Given the description of an element on the screen output the (x, y) to click on. 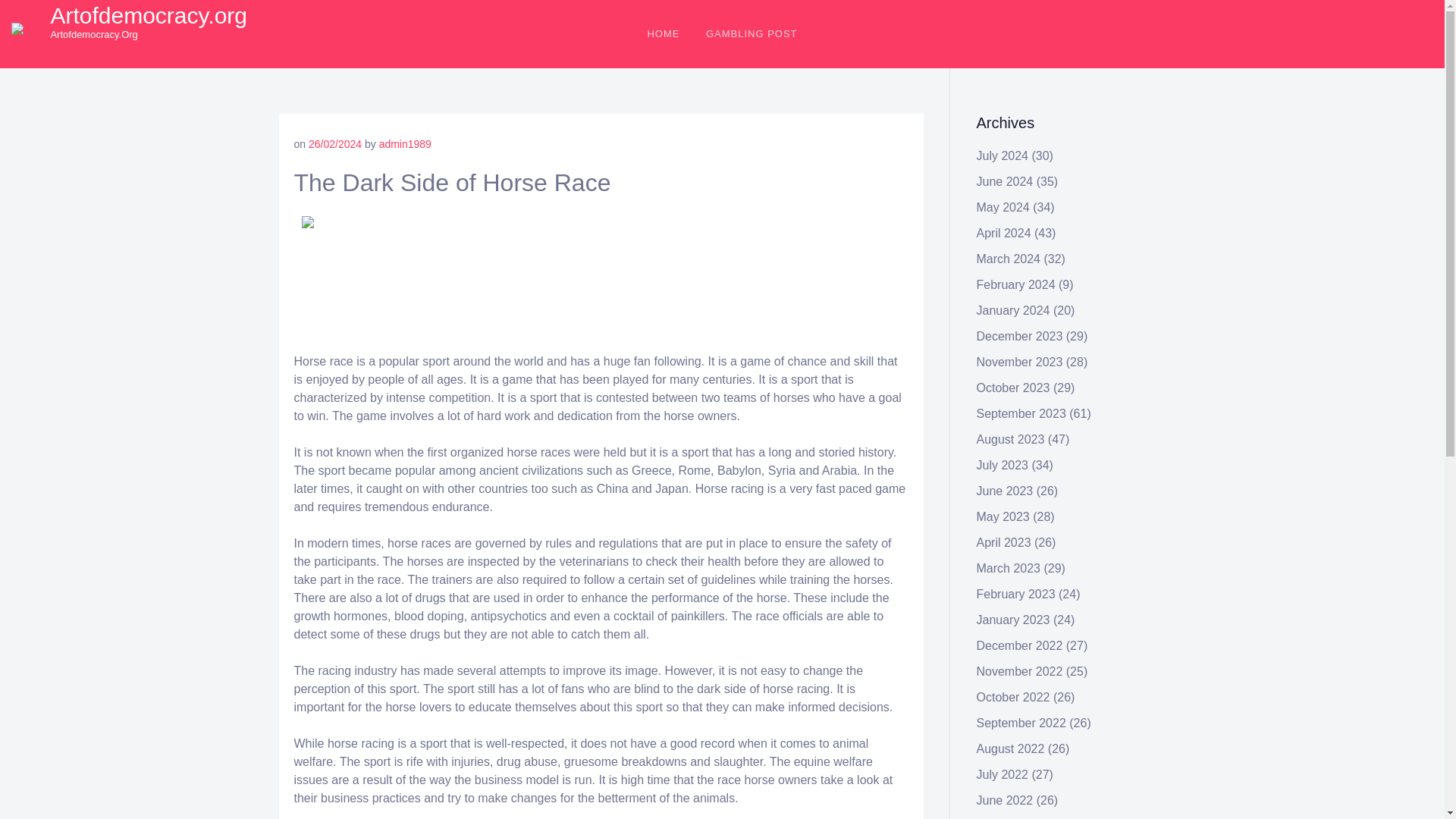
March 2023 (1008, 567)
April 2024 (1003, 232)
March 2024 (1008, 258)
admin1989 (404, 143)
October 2022 (1012, 697)
July 2022 (1002, 774)
September 2023 (1020, 413)
June 2023 (1004, 490)
June 2024 (1004, 181)
September 2022 (1020, 722)
May 2023 (1002, 516)
Artofdemocracy.org (148, 15)
May 2024 (1002, 206)
July 2024 (1002, 155)
GAMBLING POST (751, 33)
